Given the description of an element on the screen output the (x, y) to click on. 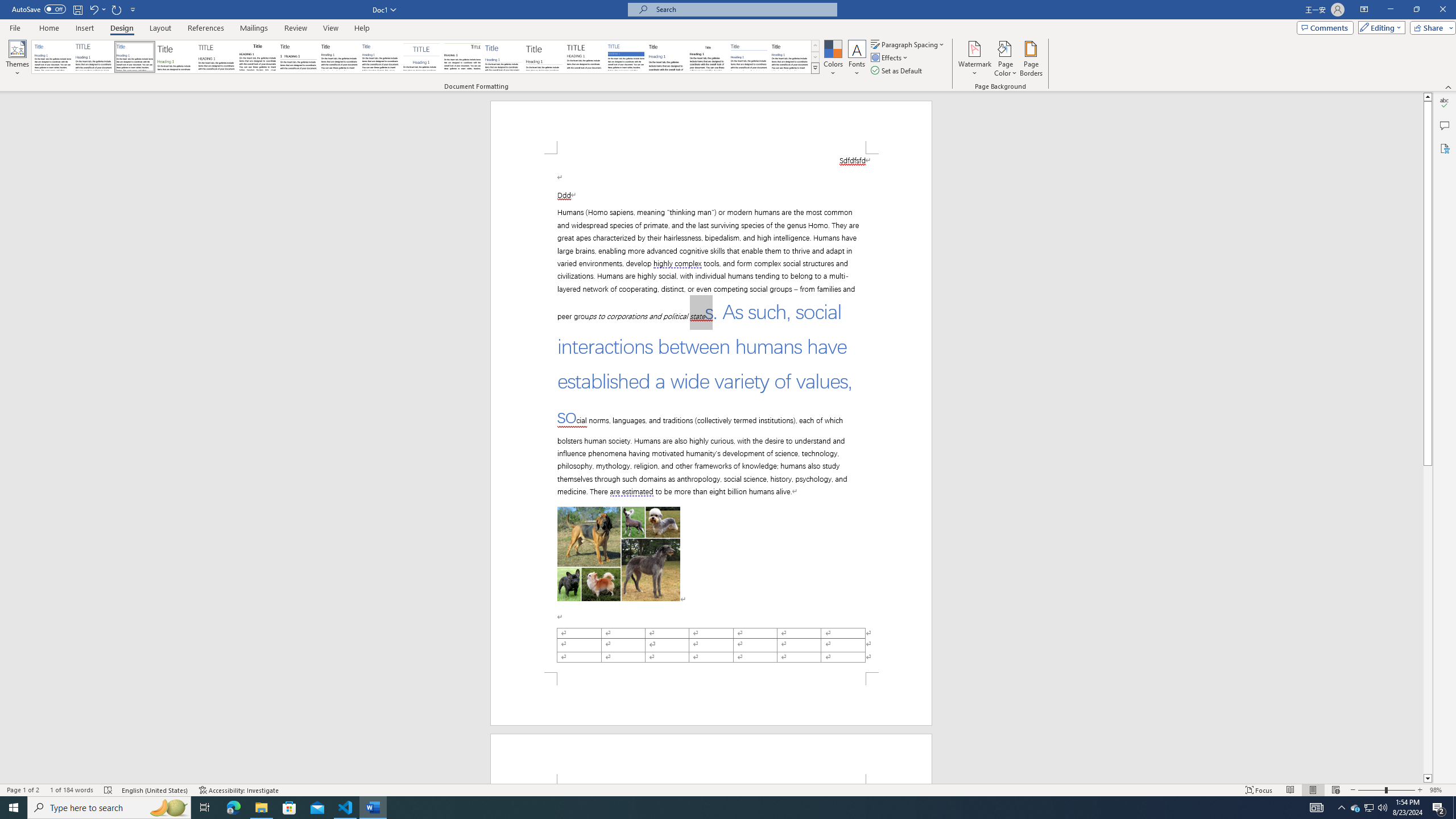
Casual (379, 56)
Word 2003 (707, 56)
Basic (Simple) (135, 56)
Page Borders... (1031, 58)
Accessibility (1444, 147)
Fonts (856, 58)
Document (52, 56)
Undo Apply Quick Style Set (92, 9)
Page down (1427, 619)
